Given the description of an element on the screen output the (x, y) to click on. 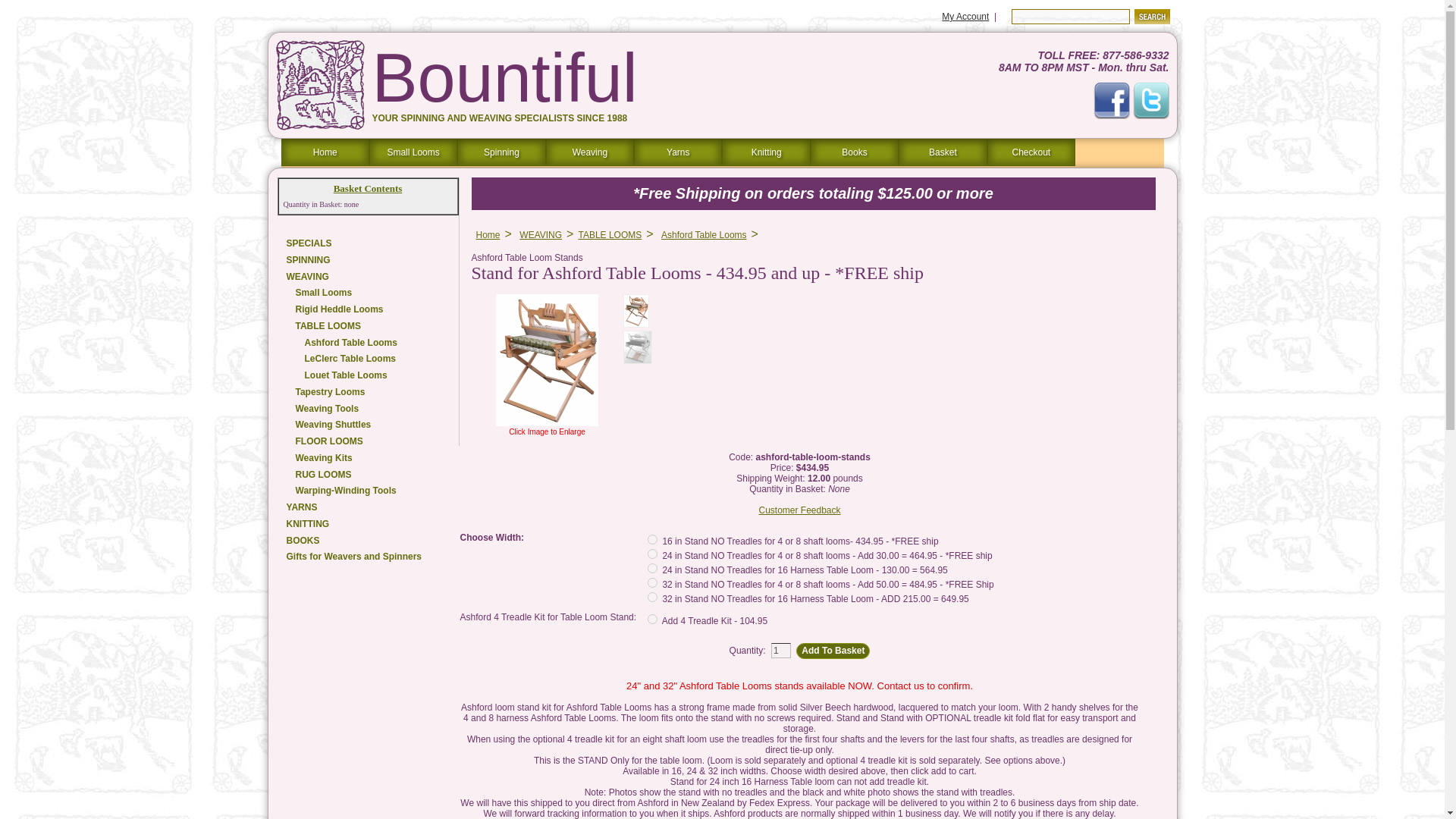
1 (780, 650)
Customer Feedback (799, 510)
KNITTING (368, 524)
SPECIALS (368, 244)
Weaving Shuttles (368, 425)
Add-4-Treadle-Kit (652, 619)
Follow Us on Twitter (1150, 100)
Checkout (1031, 152)
AS-LSSS610-24in-16h-Stand (652, 568)
FLOOR LOOMS (368, 442)
BOOKS (368, 541)
Knitting (765, 152)
Warping-Winding Tools (368, 491)
Home (488, 235)
Add To Basket (832, 650)
